Given the description of an element on the screen output the (x, y) to click on. 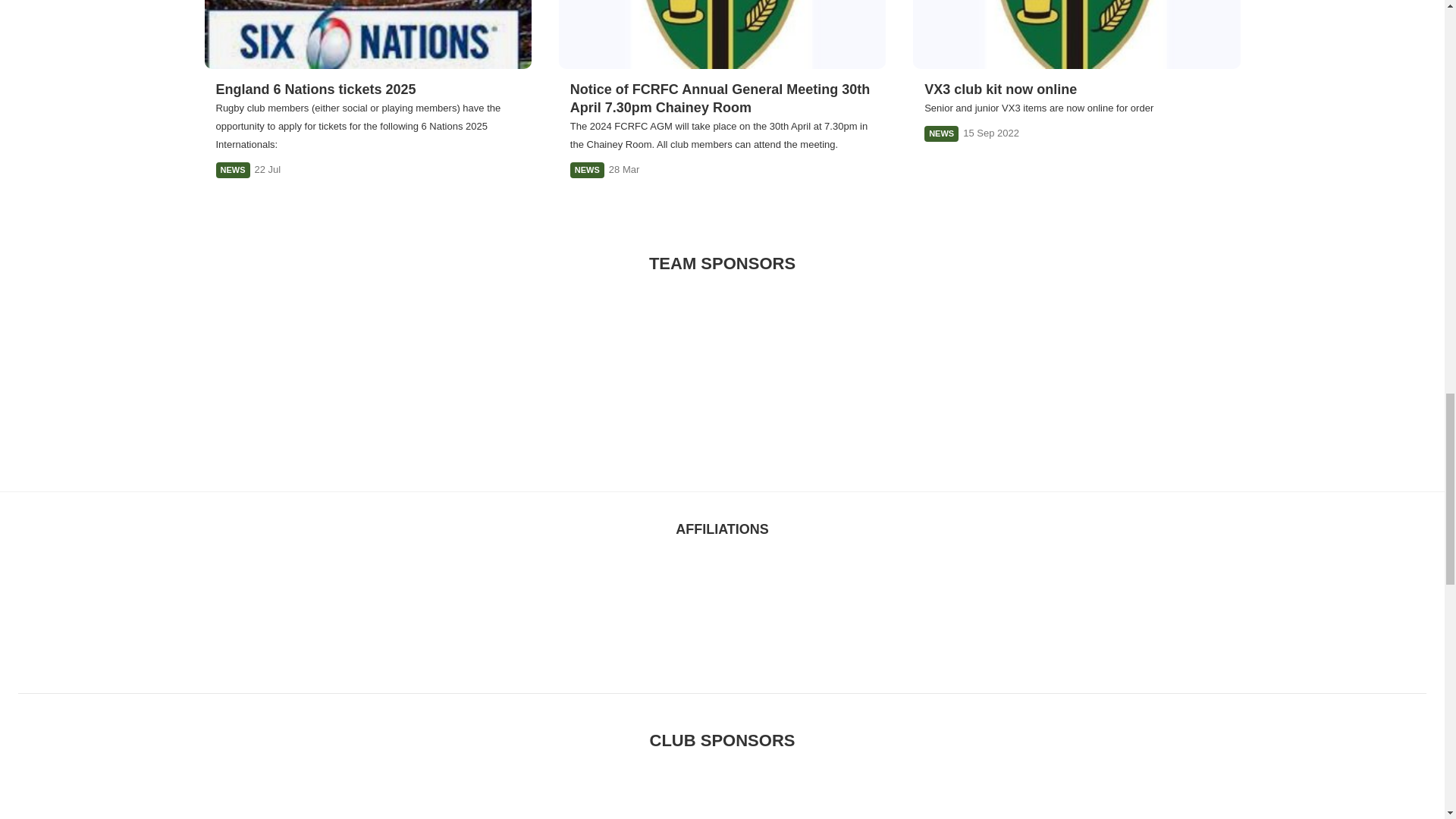
Shirt Sponsor - Egg Chasers  (879, 364)
Sponsor - Jolly Hog (722, 798)
Club Sponsor - ACC Freight Management Ltd (1352, 364)
Club Sponsor - TRS Group  (1194, 364)
Shirt Sponsor - KB Digital  (90, 364)
Club Sponsor - GC Plastering  (722, 364)
Shirt Sponsor - SSC  (1036, 798)
Shirt Sponsor - KB Digital  (90, 798)
Shirt Sponsor  - Chipping Sodbury Motors  (563, 798)
Club Sponsor - Personic Computers  (1036, 364)
